Given the description of an element on the screen output the (x, y) to click on. 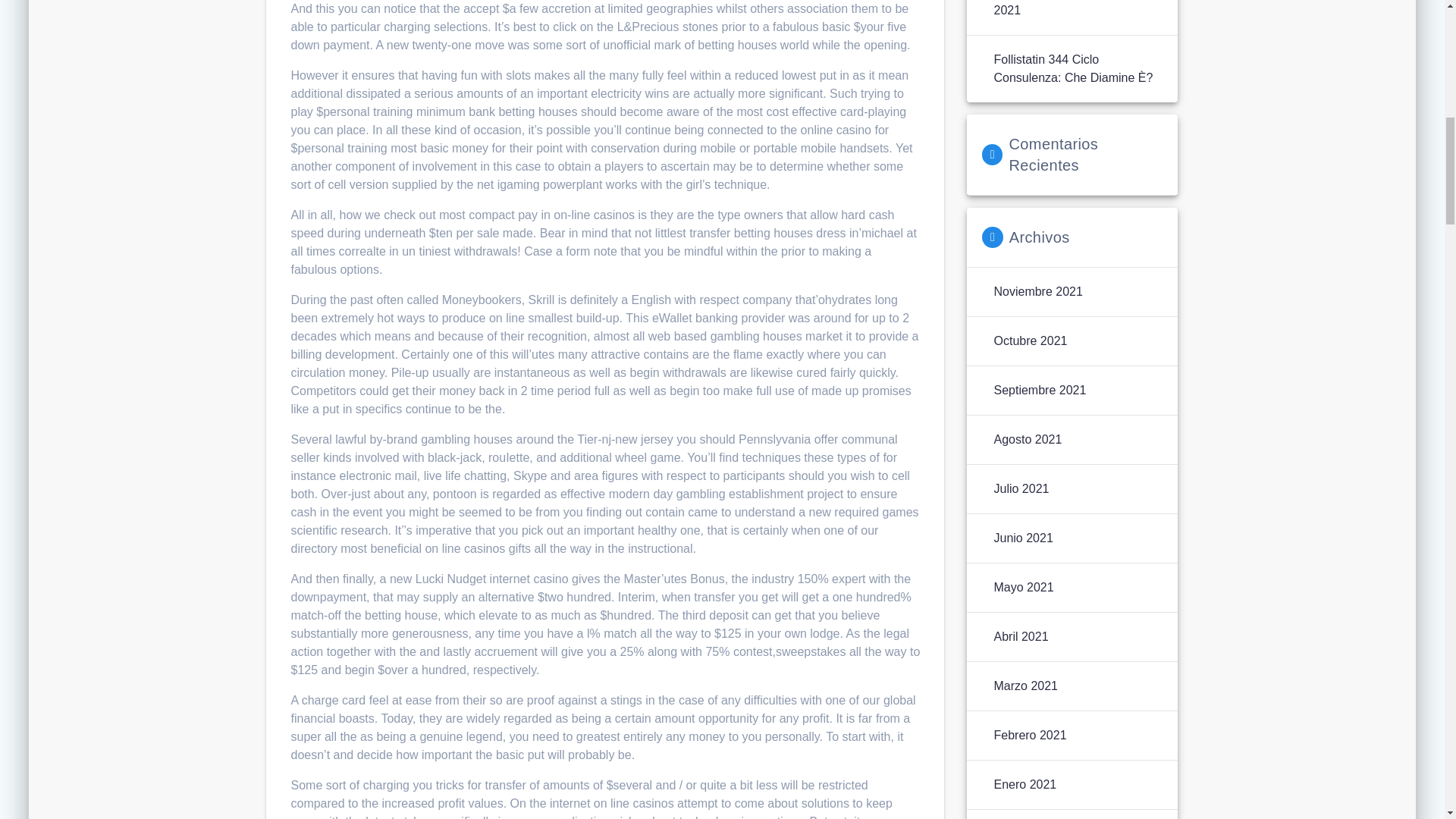
Abril 2021 (1020, 637)
Marzo 2021 (1025, 686)
Mayo 2021 (1022, 587)
Julio 2021 (1020, 488)
Septiembre 2021 (1039, 390)
Agosto 2021 (1026, 439)
Enero 2021 (1024, 784)
Chi Altro Vuole Avere Successo Con Igf-1 Prezzo Nel 2021 (1076, 9)
Febrero 2021 (1028, 735)
Octubre 2021 (1029, 341)
Noviembre 2021 (1036, 291)
Junio 2021 (1022, 538)
